Given the description of an element on the screen output the (x, y) to click on. 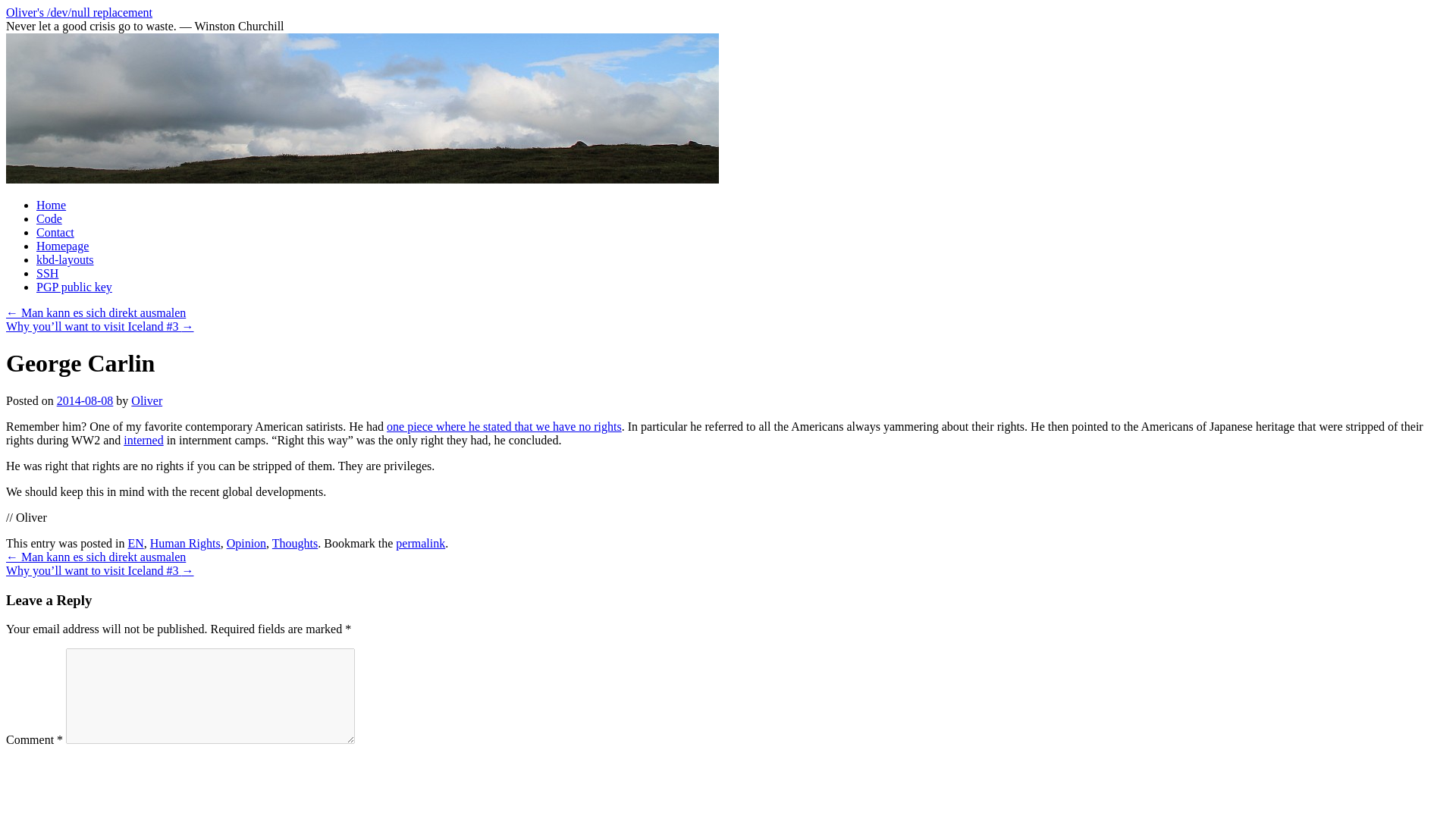
2014-08-08 (84, 400)
Permalink to George Carlin (420, 543)
02:03 (84, 400)
SSH (47, 273)
Opinion (246, 543)
interned (143, 440)
Thoughts (294, 543)
Contact (55, 232)
permalink (420, 543)
Human Rights (185, 543)
